Given the description of an element on the screen output the (x, y) to click on. 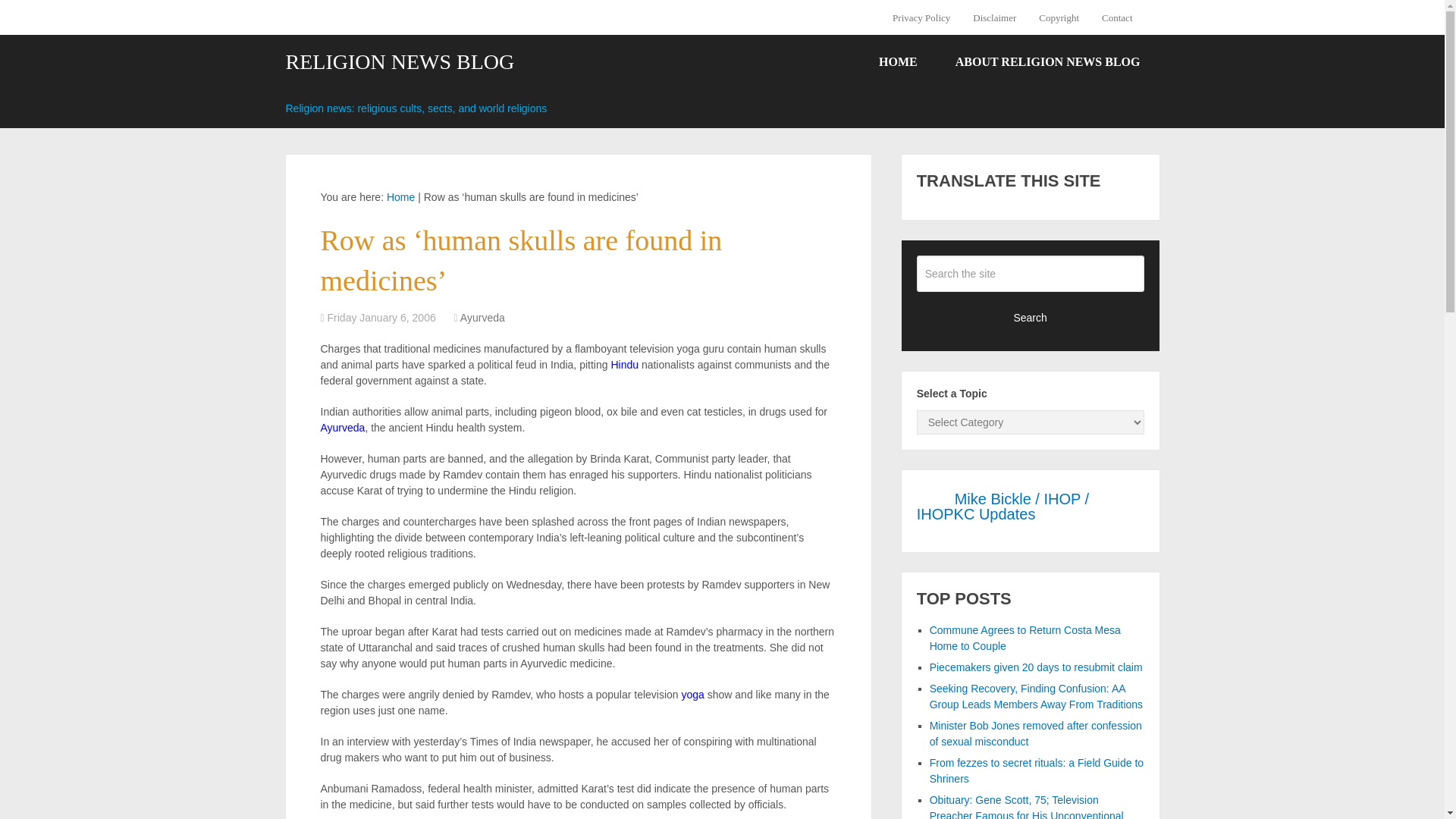
Contact (1116, 17)
Piecemakers given 20 days to resubmit claim (1036, 666)
ABOUT RELIGION NEWS BLOG (1047, 62)
Ayurveda (342, 427)
Privacy Policy (926, 17)
HOME (898, 62)
Ayurveda (482, 317)
Home (400, 196)
Disclaimer (993, 17)
Commune Agrees to Return Costa Mesa Home to Couple (1025, 637)
yoga (692, 694)
RELIGION NEWS BLOG (399, 61)
Hindu (624, 364)
